Given the description of an element on the screen output the (x, y) to click on. 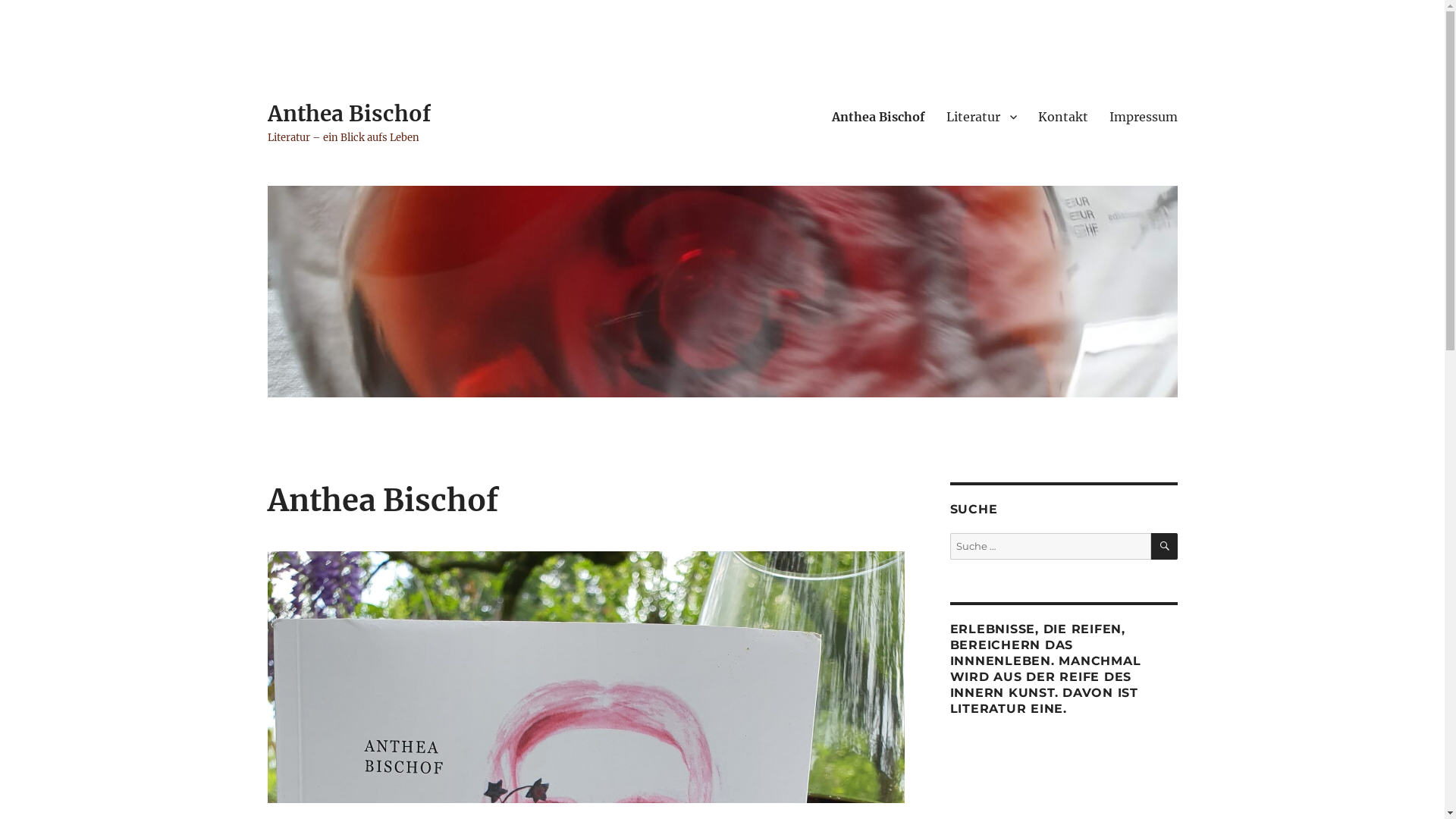
Impressum Element type: text (1142, 116)
SUCHE Element type: text (1164, 546)
Anthea Bischof Element type: text (347, 113)
Literatur Element type: text (981, 116)
Anthea Bischof Element type: text (877, 116)
Kontakt Element type: text (1062, 116)
